Given the description of an element on the screen output the (x, y) to click on. 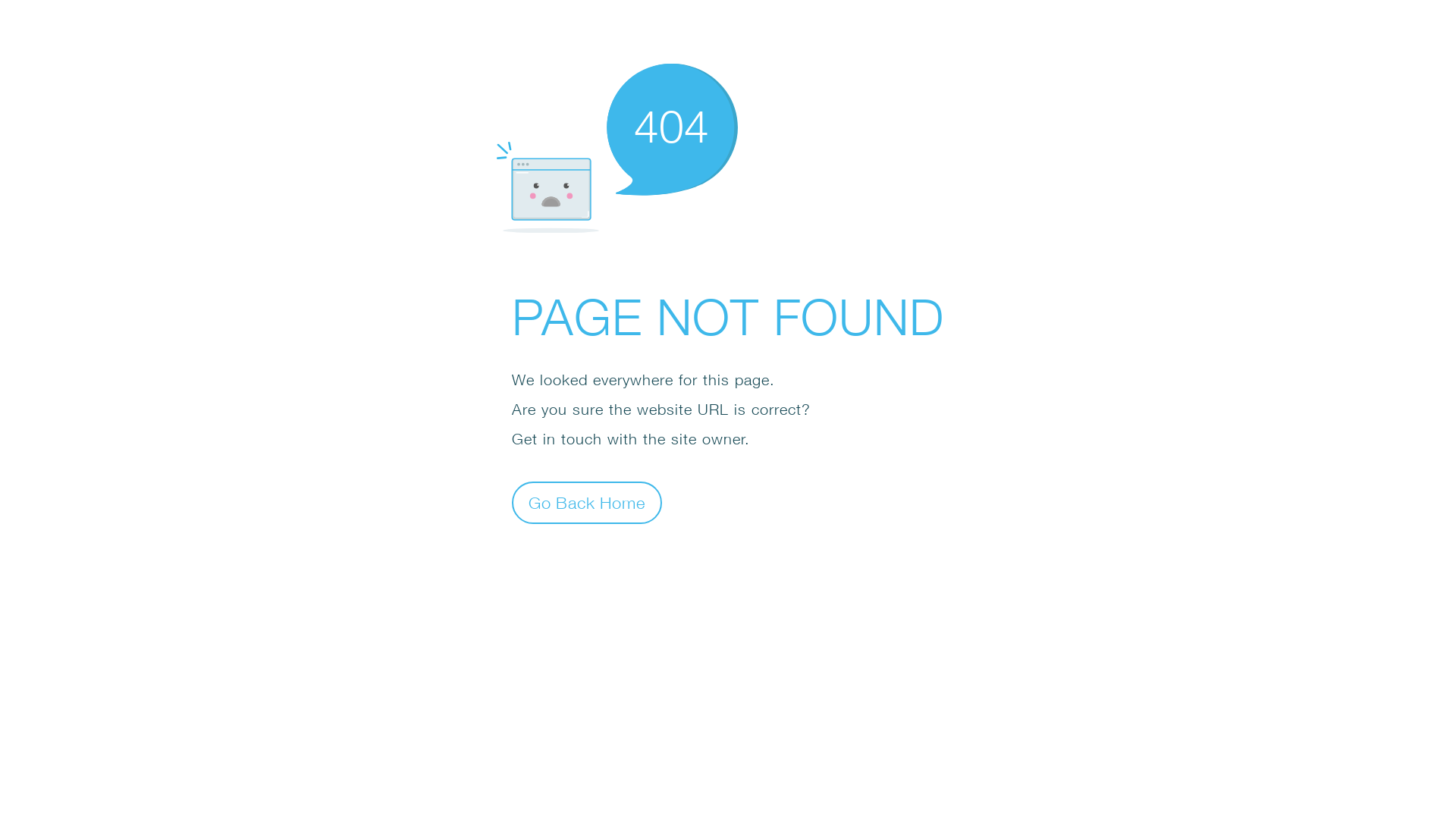
Go Back Home Element type: text (586, 502)
